Given the description of an element on the screen output the (x, y) to click on. 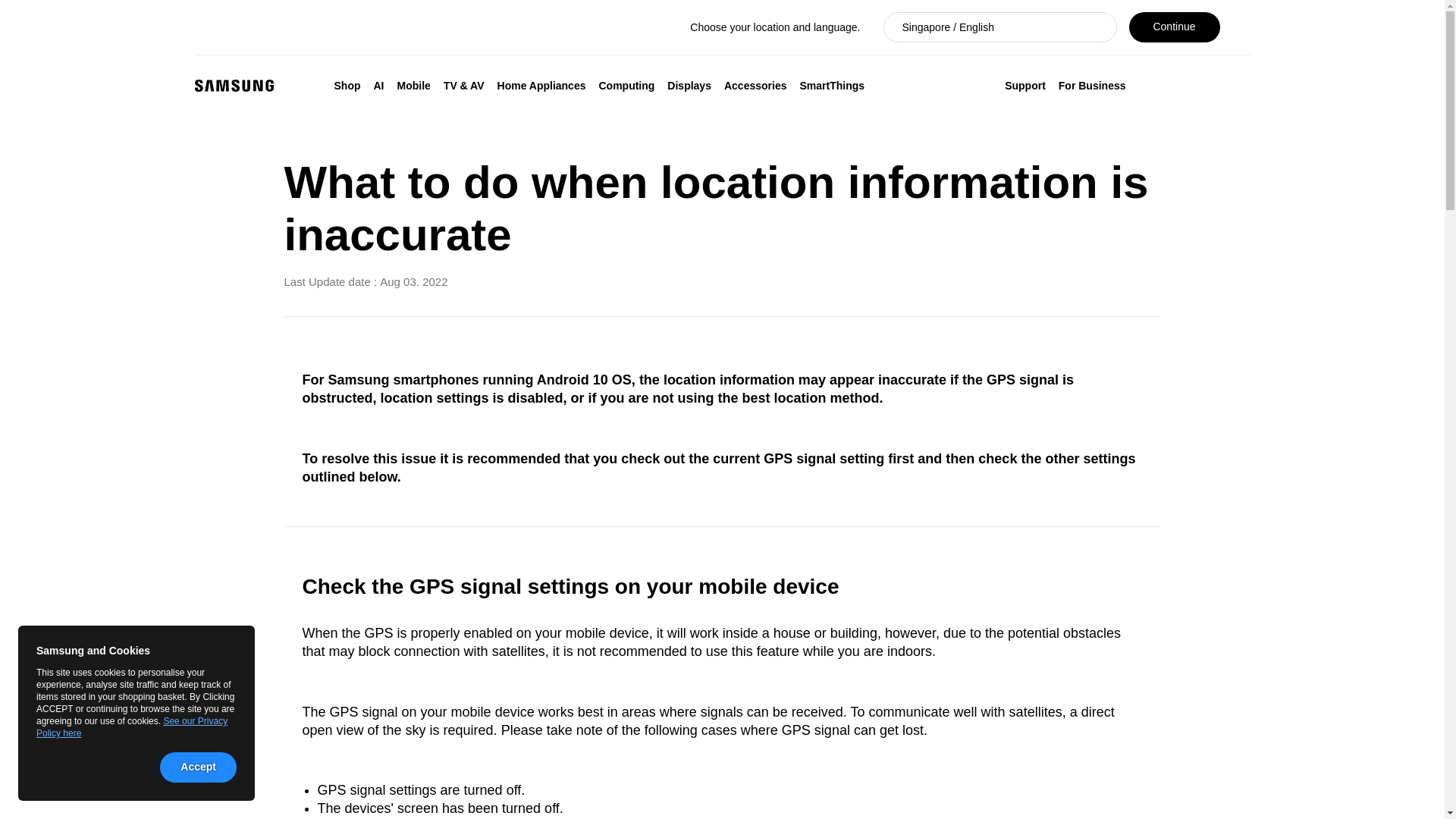
See our Privacy Policy here (131, 726)
Shop (346, 85)
Accept (197, 767)
Close (1243, 17)
Continue (1174, 27)
Accept (197, 767)
close (230, 649)
